Given the description of an element on the screen output the (x, y) to click on. 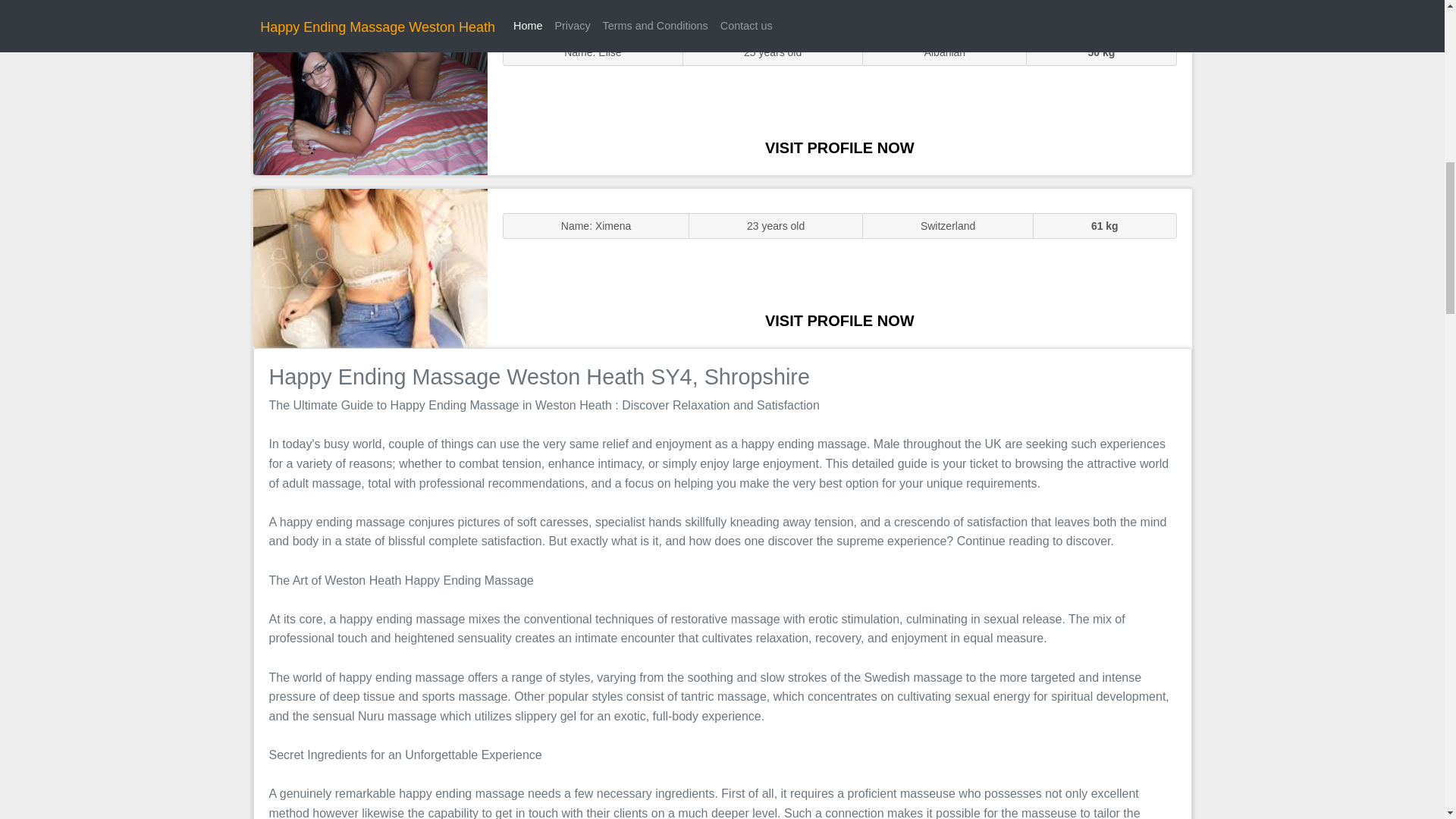
Sluts (370, 94)
Massage (370, 267)
VISIT PROFILE NOW (839, 147)
VISIT PROFILE NOW (839, 320)
